Given the description of an element on the screen output the (x, y) to click on. 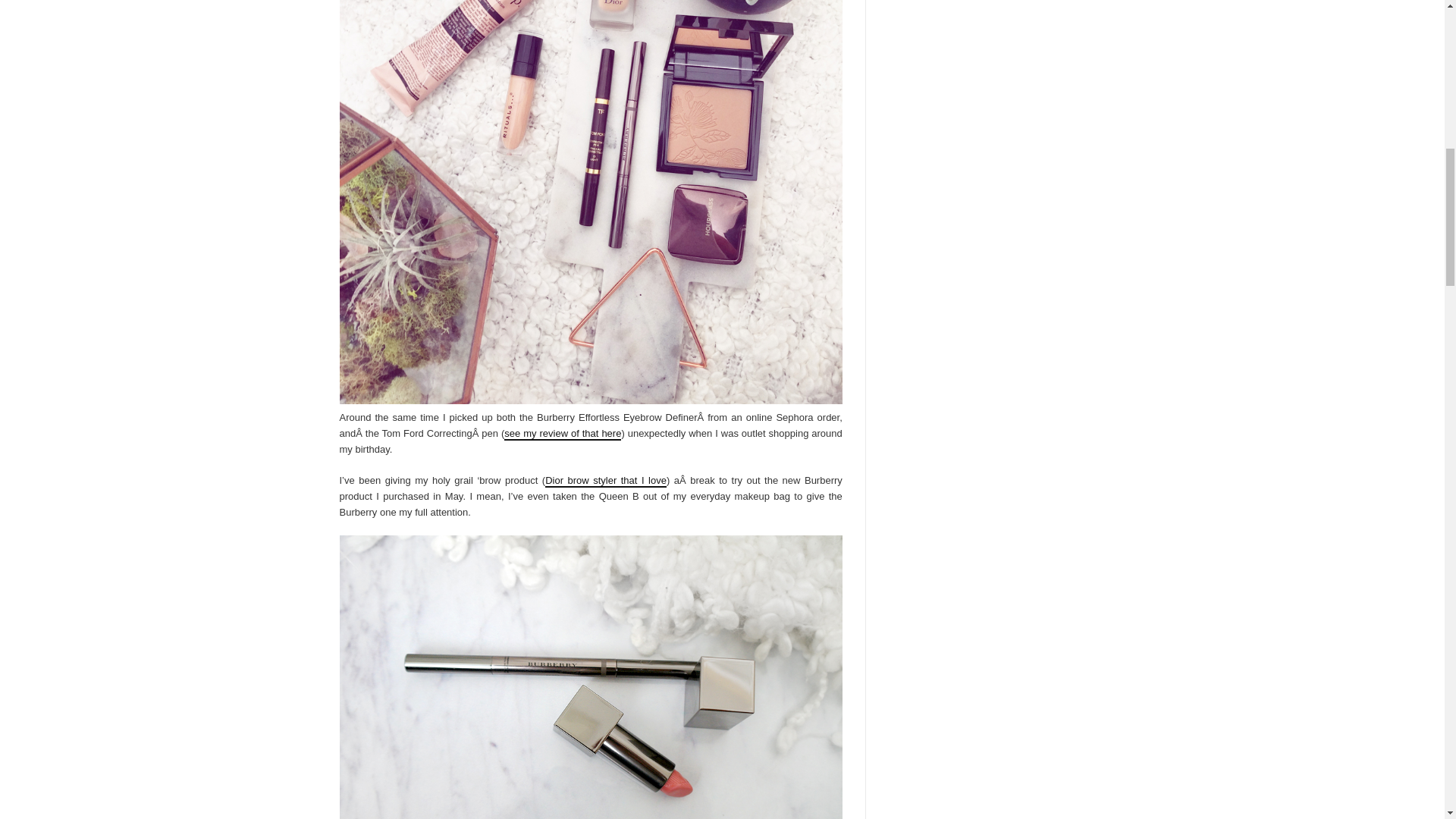
Dior brow styler that I love (605, 481)
see my review of that here (562, 433)
